Given the description of an element on the screen output the (x, y) to click on. 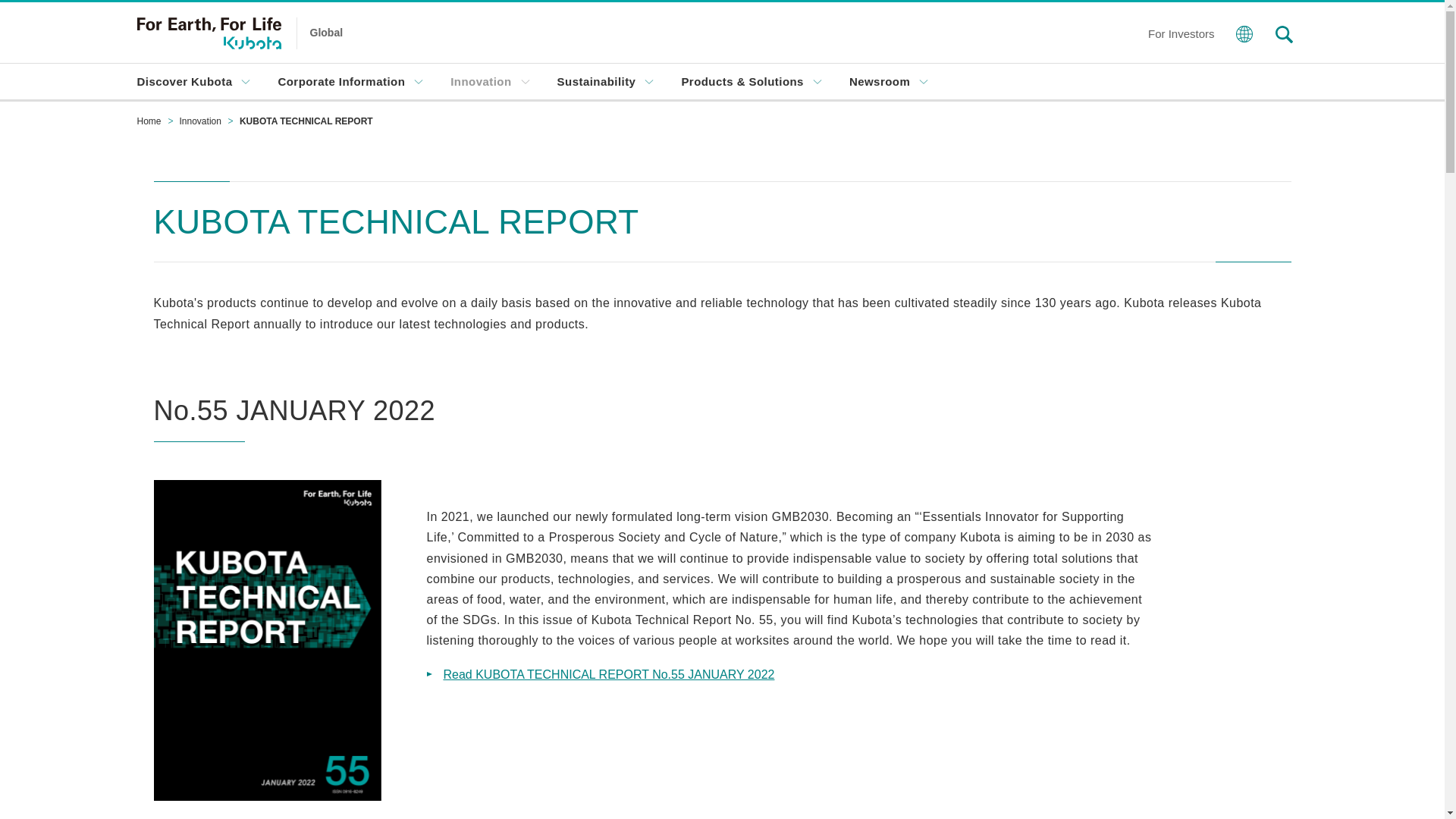
Discover Kubota (193, 81)
Innovation (489, 81)
For Investors (1181, 32)
Corporate Information (350, 81)
Sustainability (605, 81)
